Given the description of an element on the screen output the (x, y) to click on. 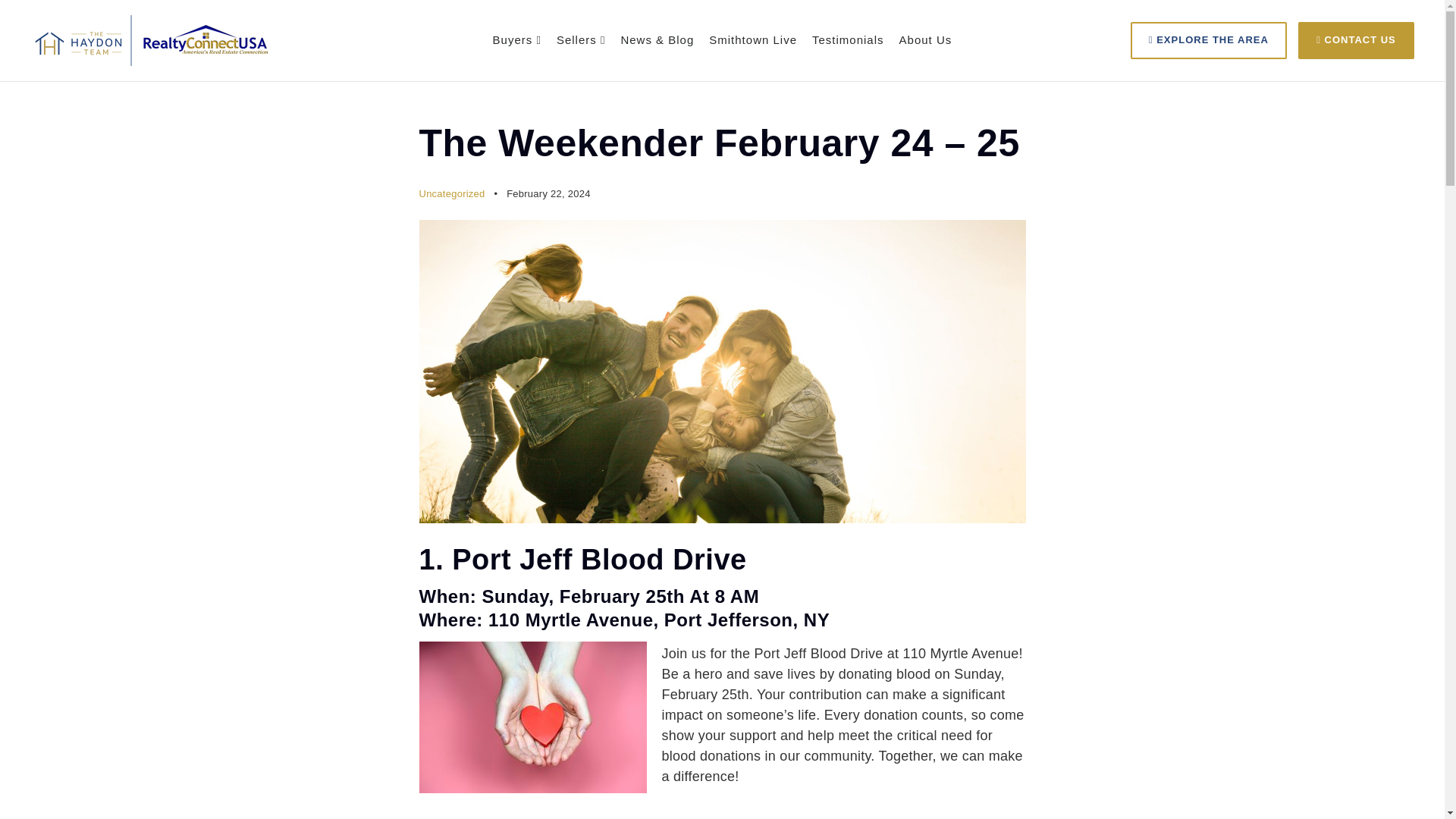
EXPLORE THE AREA (1209, 40)
About Us (925, 40)
Sellers (580, 40)
Buyers (517, 40)
Sellers Links (580, 40)
Smithtown Live (752, 40)
Testimonials (847, 40)
Buyers Links (517, 40)
CONTACT US (1355, 40)
About Us (925, 40)
Testimonials (847, 40)
